Given the description of an element on the screen output the (x, y) to click on. 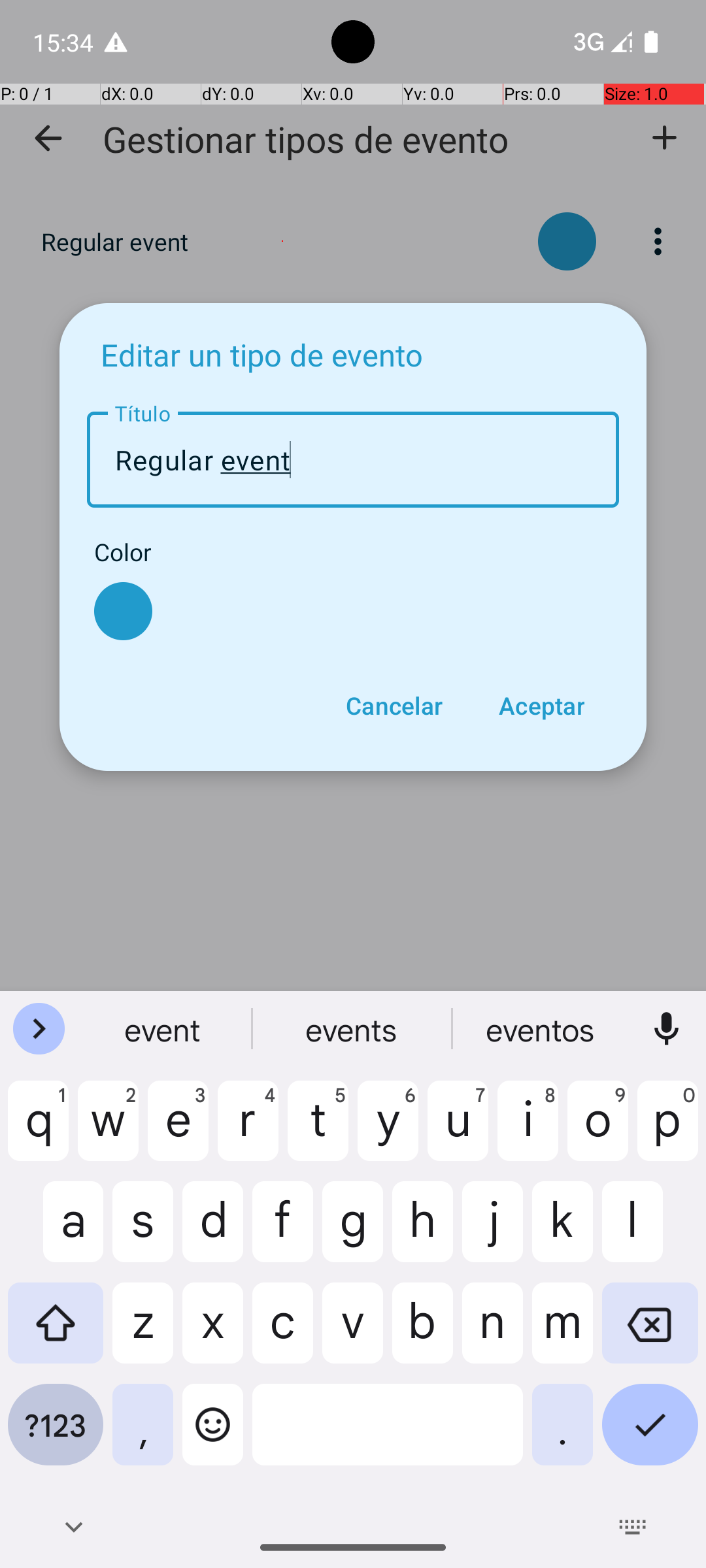
Editar un tipo de evento Element type: android.widget.TextView (261, 354)
Regular event Element type: android.widget.EditText (352, 459)
Cancelar Element type: android.widget.Button (393, 705)
Aceptar Element type: android.widget.Button (541, 705)
event Element type: android.widget.FrameLayout (163, 1028)
events Element type: android.widget.FrameLayout (352, 1028)
eventos Element type: android.widget.FrameLayout (541, 1028)
